Given the description of an element on the screen output the (x, y) to click on. 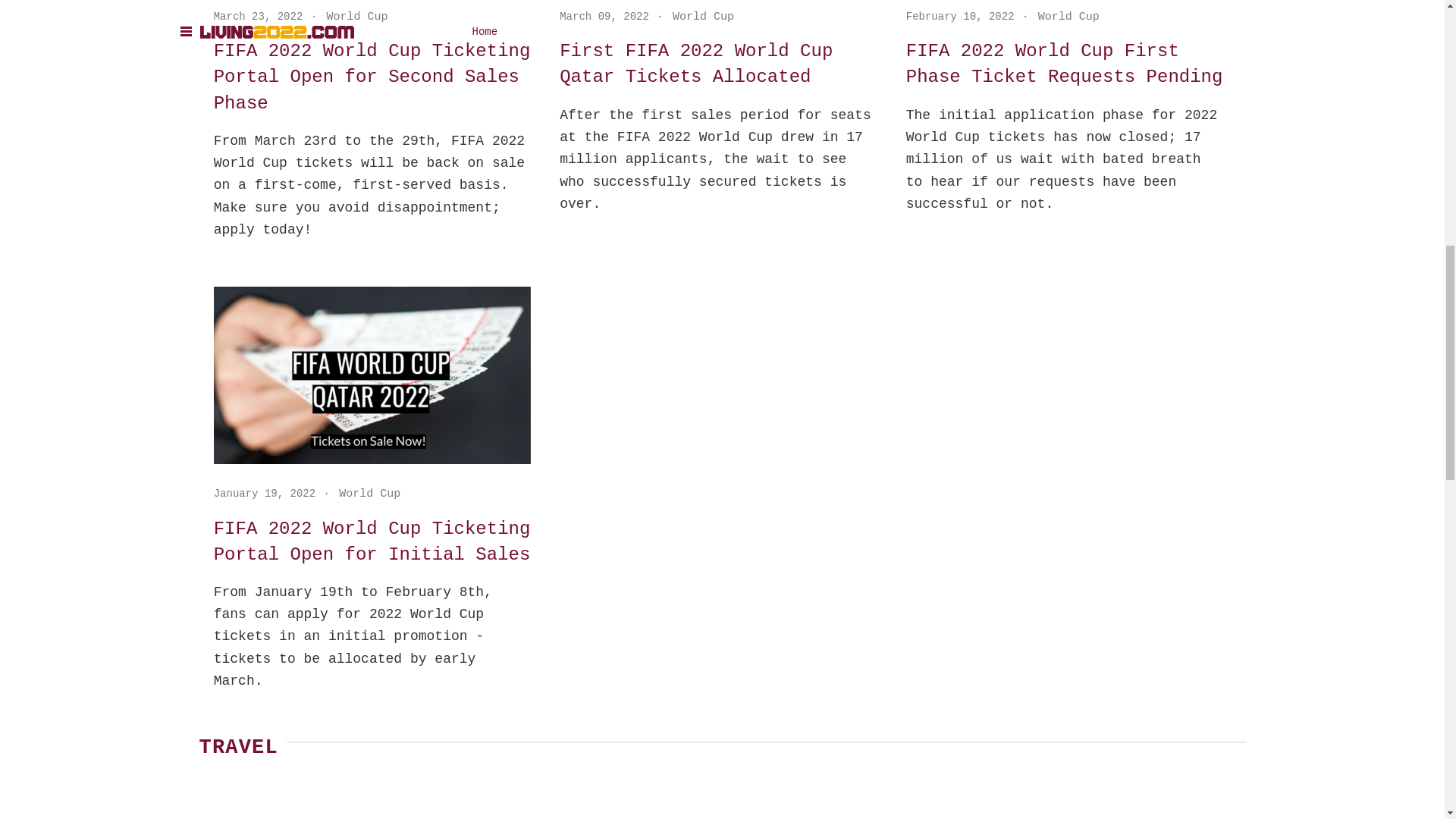
World Cup (702, 16)
FIFA 2022 World Cup Ticketing Portal Open for Initial Sales (372, 542)
First FIFA 2022 World Cup Qatar Tickets Allocated (717, 64)
World Cup (1068, 16)
World Cup (369, 493)
World Cup (357, 16)
FIFA 2022 World Cup First Phase Ticket Requests Pending (1064, 64)
